Given the description of an element on the screen output the (x, y) to click on. 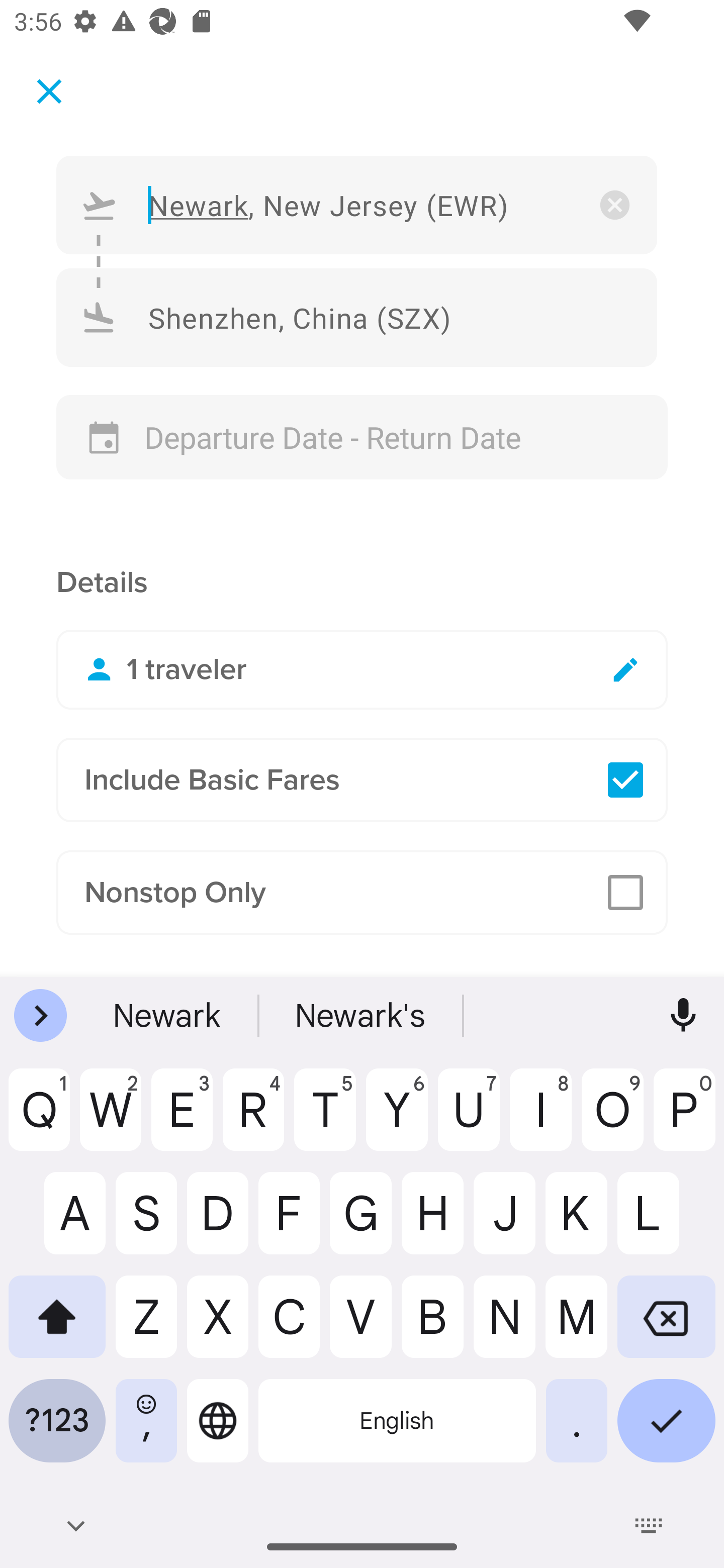
Cancel (49, 90)
Newark, New Jersey (EWR) (356, 204)
Shenzhen, China (SZX) (356, 317)
Departure Date - Return Date (361, 437)
1 traveler Edit Travelers (361, 669)
Include Basic Fares (361, 779)
Nonstop Only (361, 891)
